Given the description of an element on the screen output the (x, y) to click on. 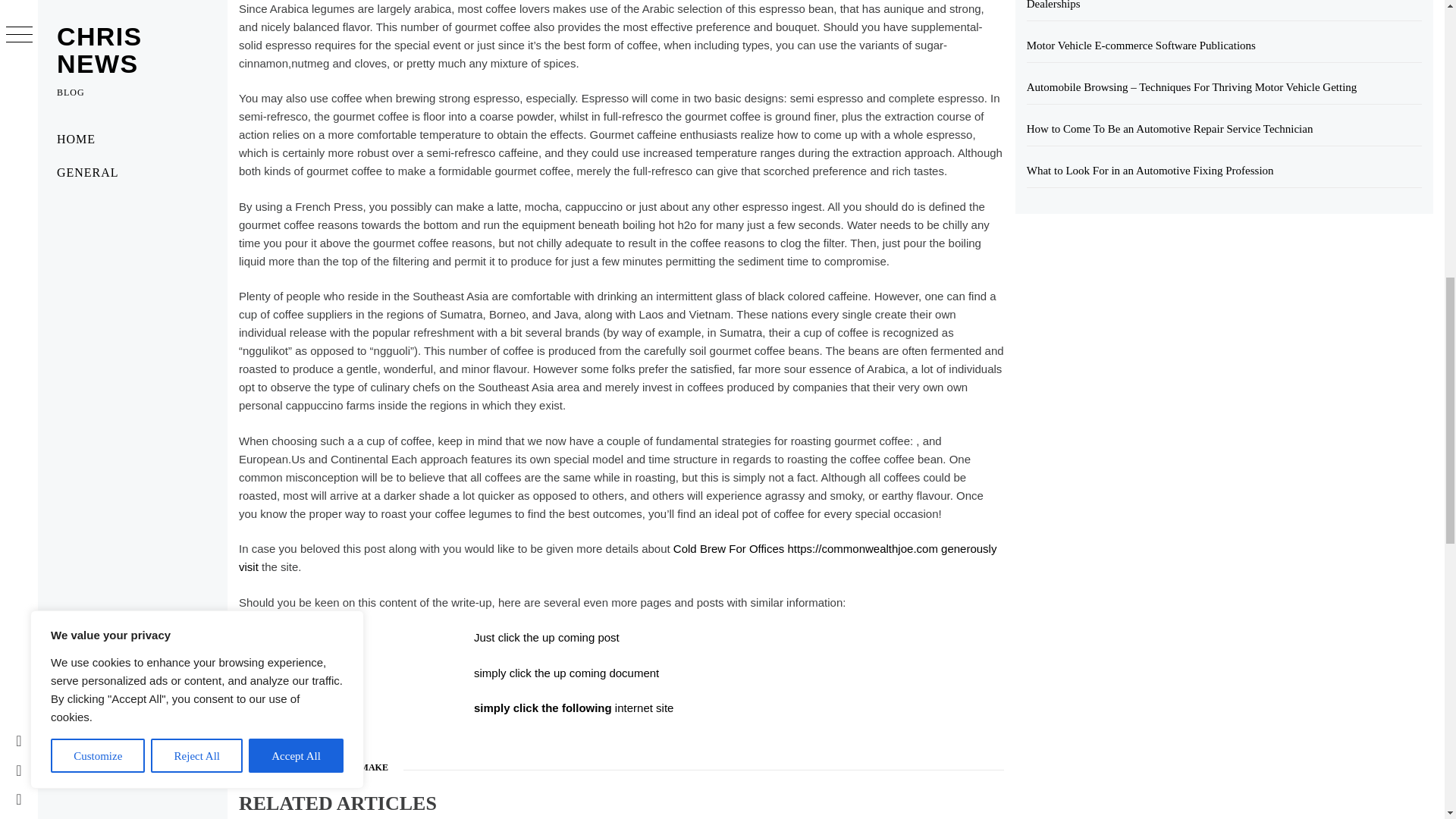
GENERAL (267, 767)
Just click the up coming post (547, 636)
generously visit (616, 557)
simply click the up coming document (566, 672)
simply click the following internet site (573, 707)
